Given the description of an element on the screen output the (x, y) to click on. 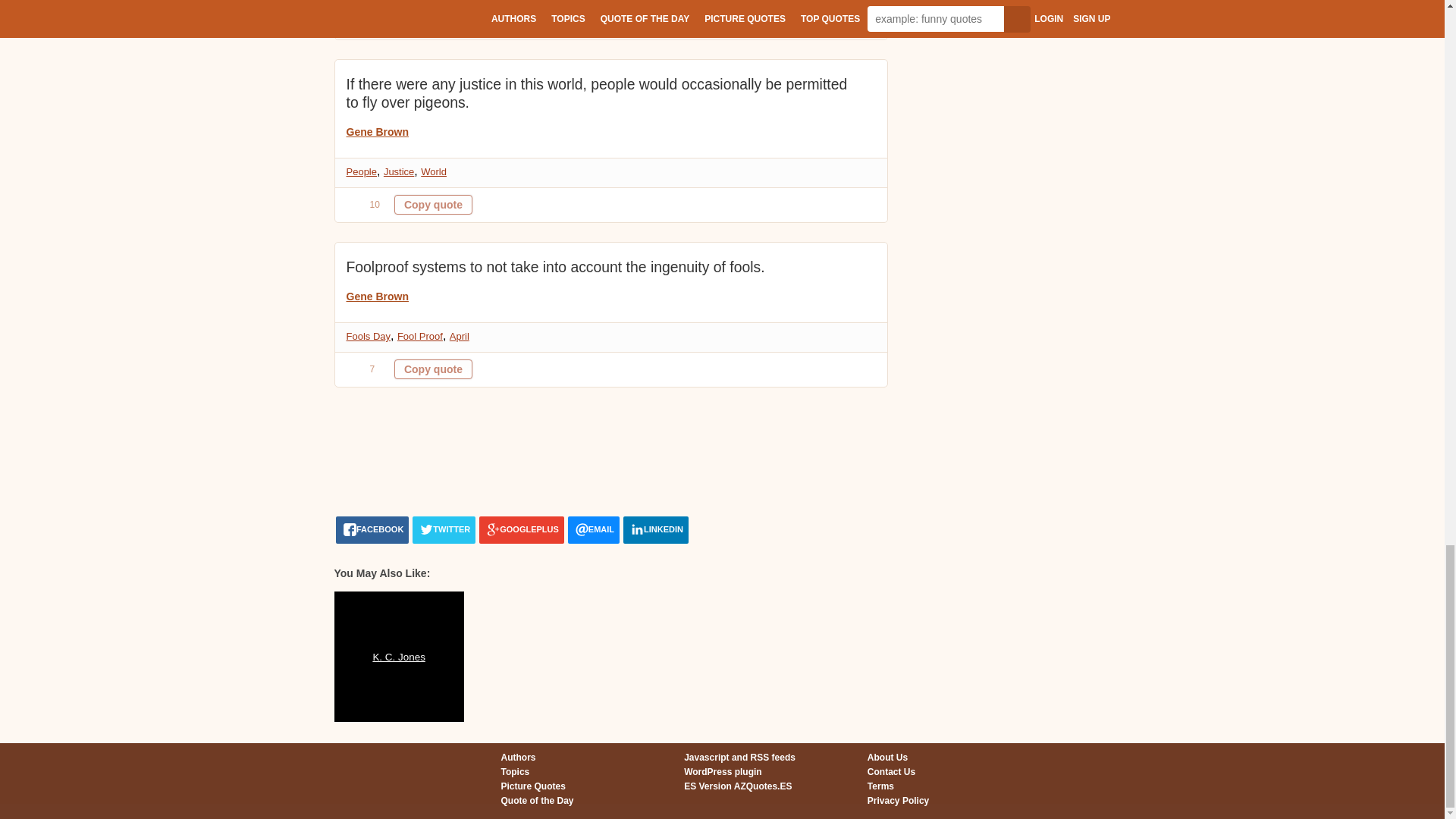
Quote is copied (432, 204)
Quote is copied (432, 369)
Quote is copied (432, 21)
